Given the description of an element on the screen output the (x, y) to click on. 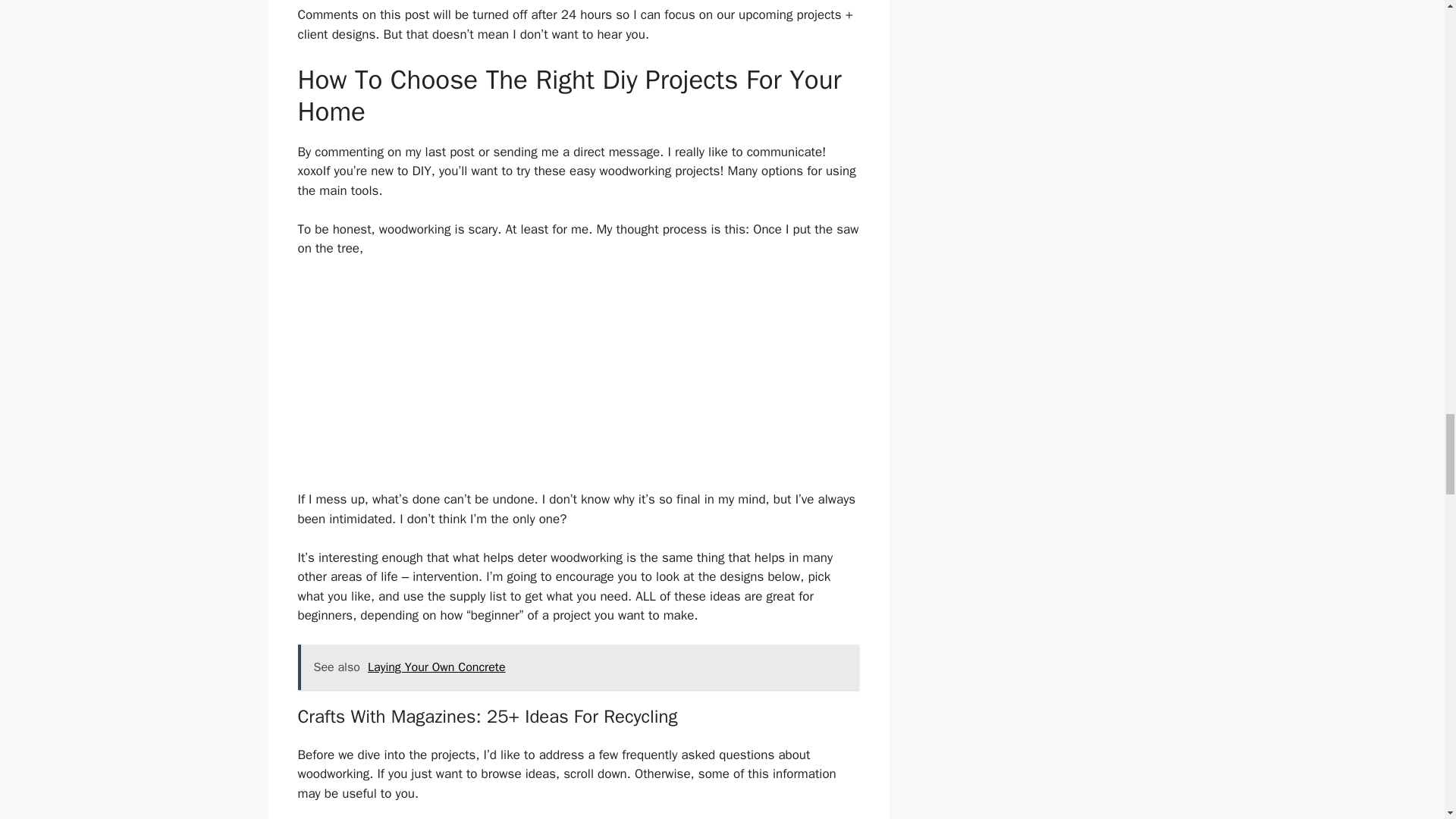
See also  Laying Your Own Concrete (578, 667)
